Given the description of an element on the screen output the (x, y) to click on. 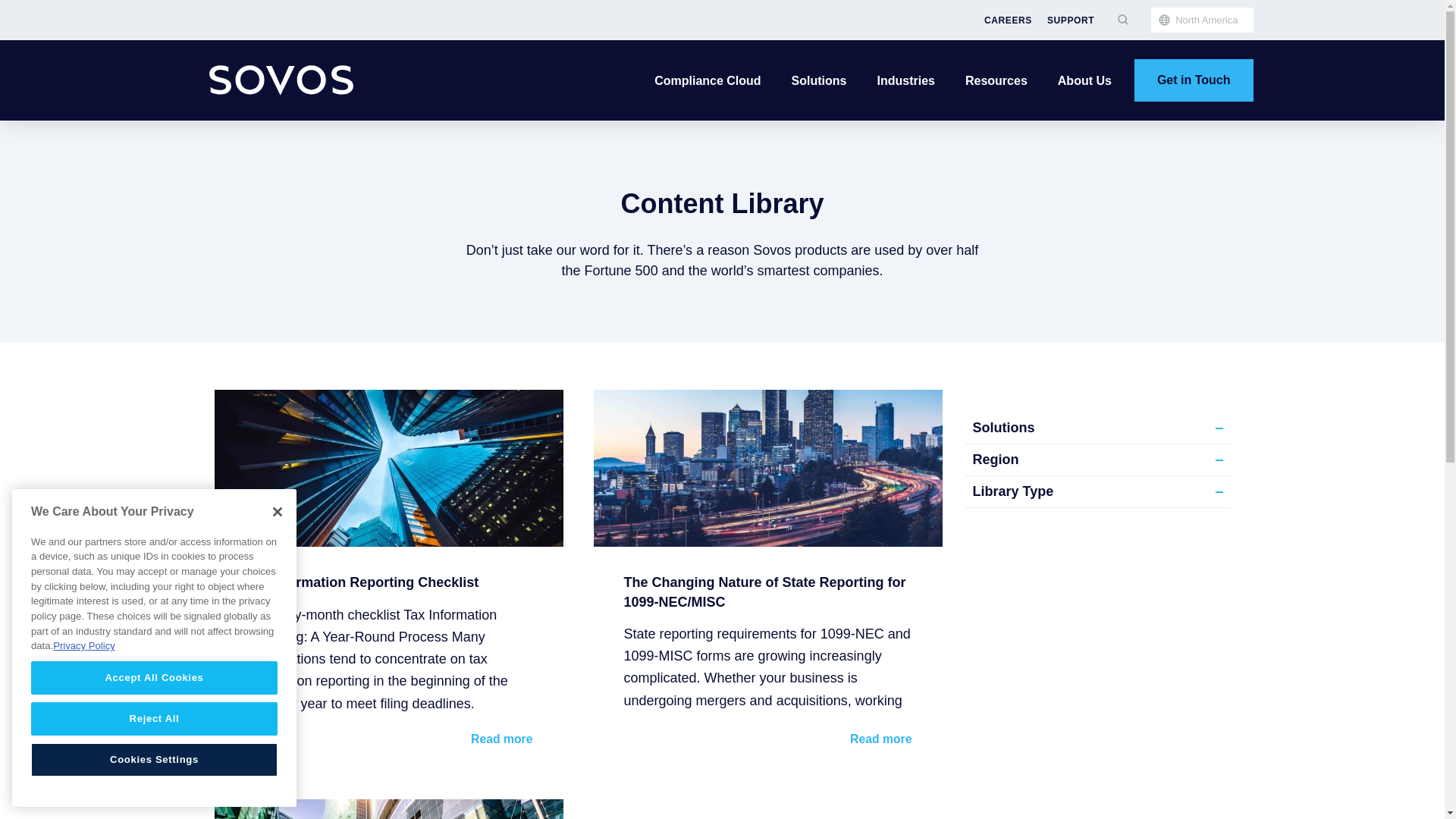
Solutions (818, 80)
Compliance Cloud (707, 80)
CAREERS (1007, 20)
North America (1201, 19)
SUPPORT (1070, 20)
